Given the description of an element on the screen output the (x, y) to click on. 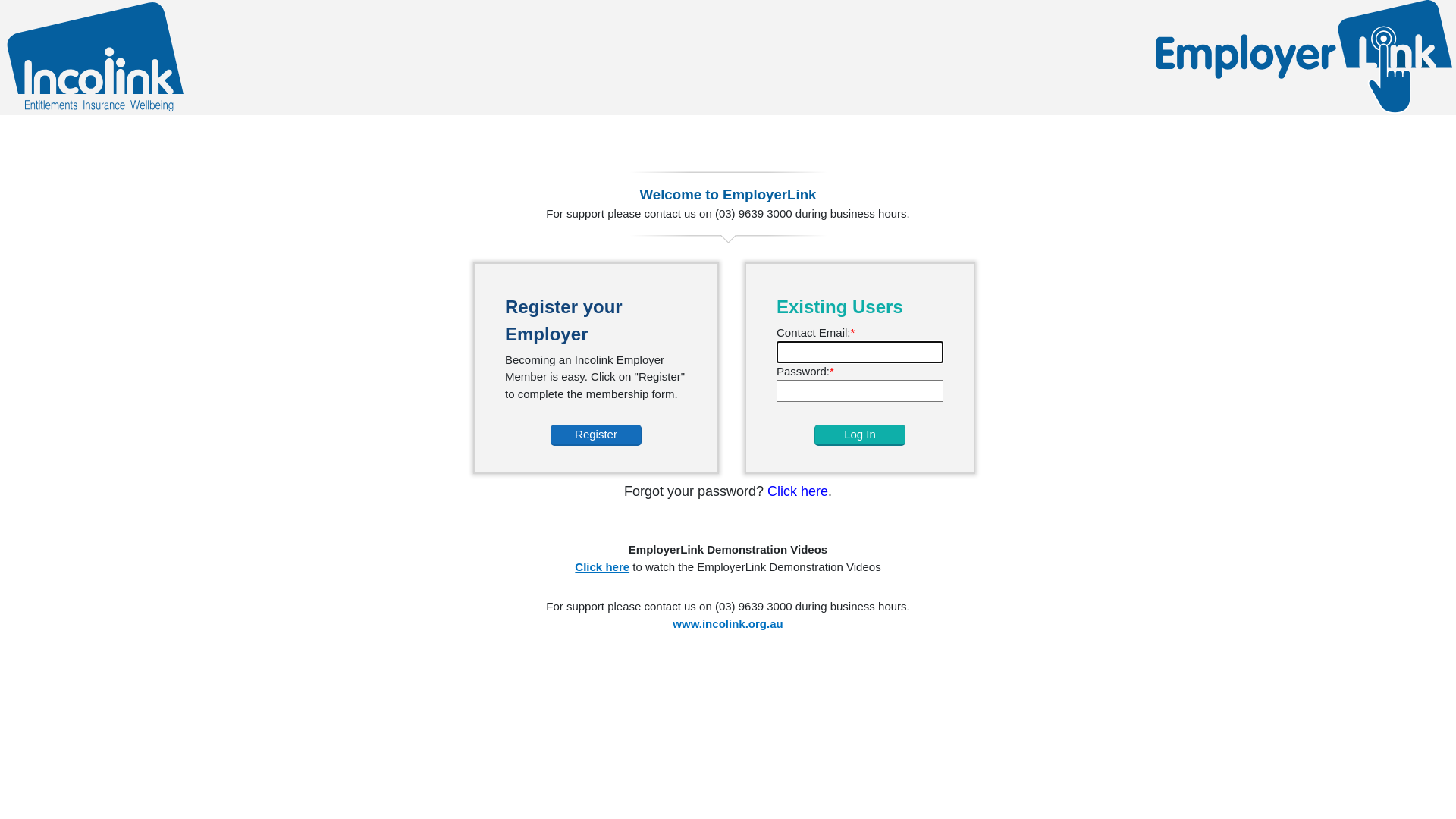
Click here Element type: text (601, 565)
Register Element type: text (595, 434)
Log In Element type: text (859, 434)
Click here Element type: text (797, 490)
www.incolink.org.au Element type: text (727, 623)
